Given the description of an element on the screen output the (x, y) to click on. 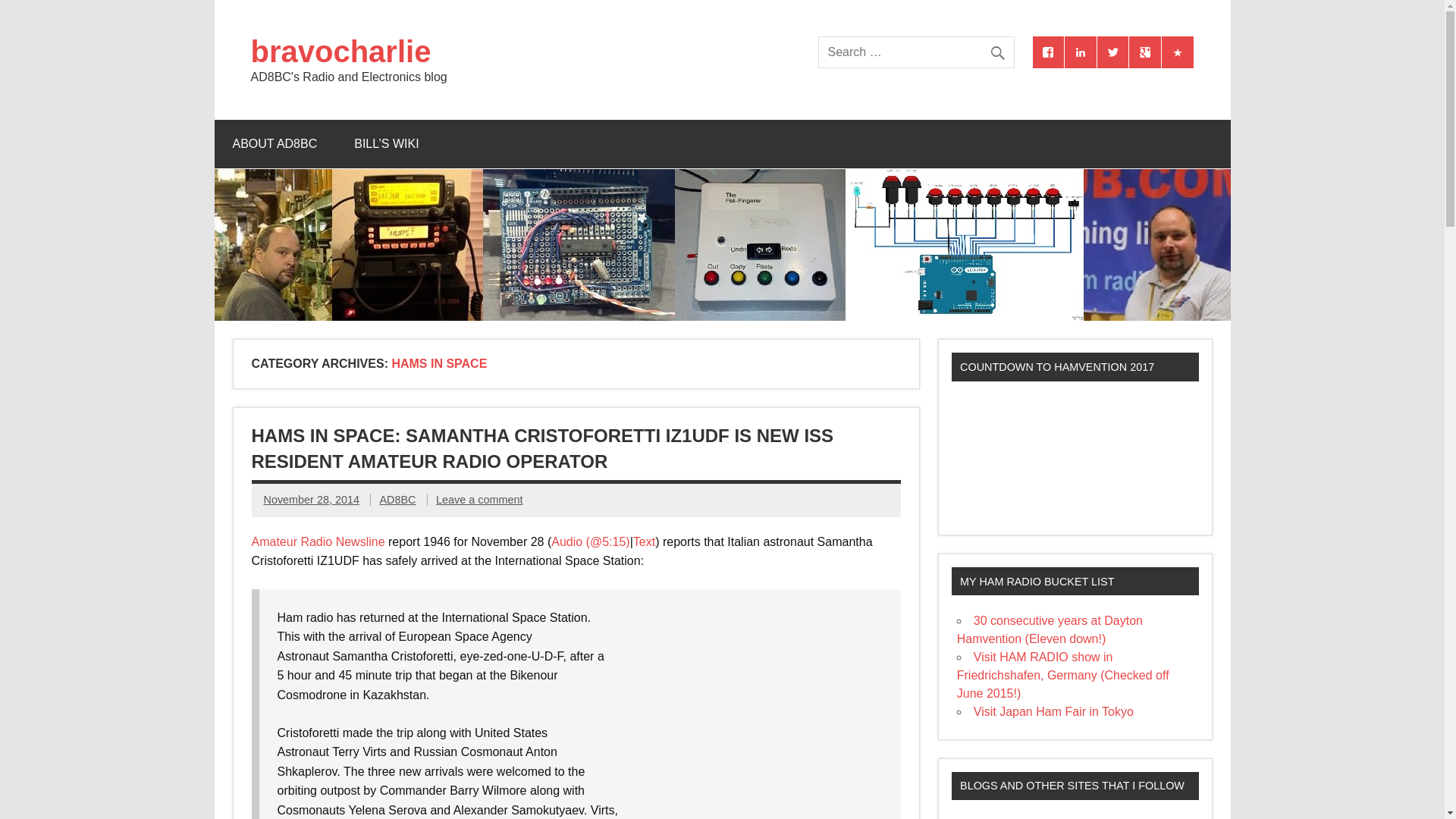
Leave a comment (478, 499)
November 28, 2014 (311, 499)
ABOUT AD8BC (274, 143)
Amateur Radio Newsline (318, 541)
Visit Japan Ham Fair in Tokyo (1054, 711)
AD8BC (396, 499)
2:58 pm (311, 499)
View all posts by AD8BC (396, 499)
Text (644, 541)
bravocharlie (348, 51)
bravocharlie (348, 51)
